Given the description of an element on the screen output the (x, y) to click on. 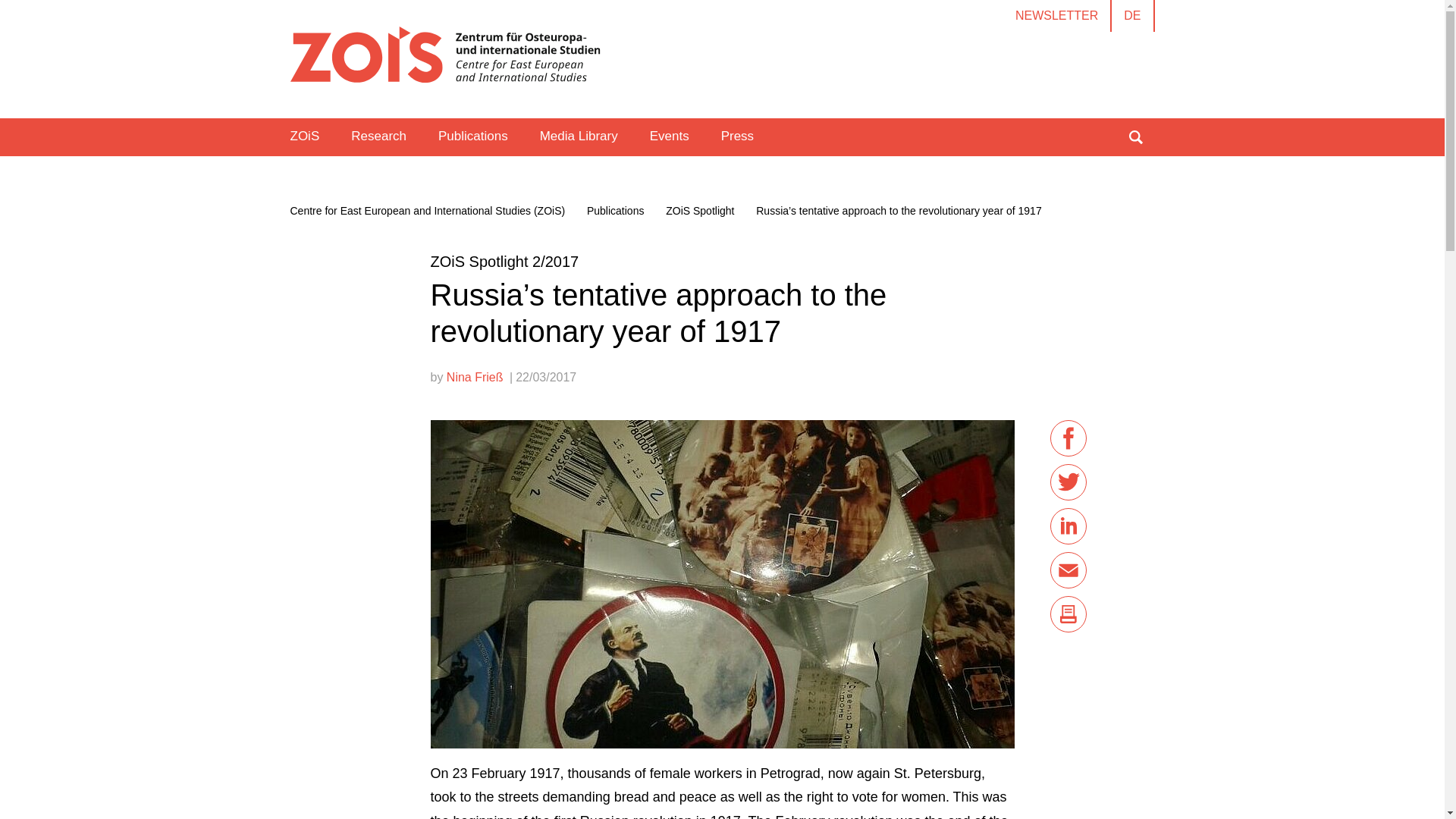
DE (1132, 15)
NEWSLETTER (1056, 15)
Page 1 Created with Sketch. (444, 54)
Page 1 Created with Sketch. (444, 58)
ZOiS (305, 136)
